Given the description of an element on the screen output the (x, y) to click on. 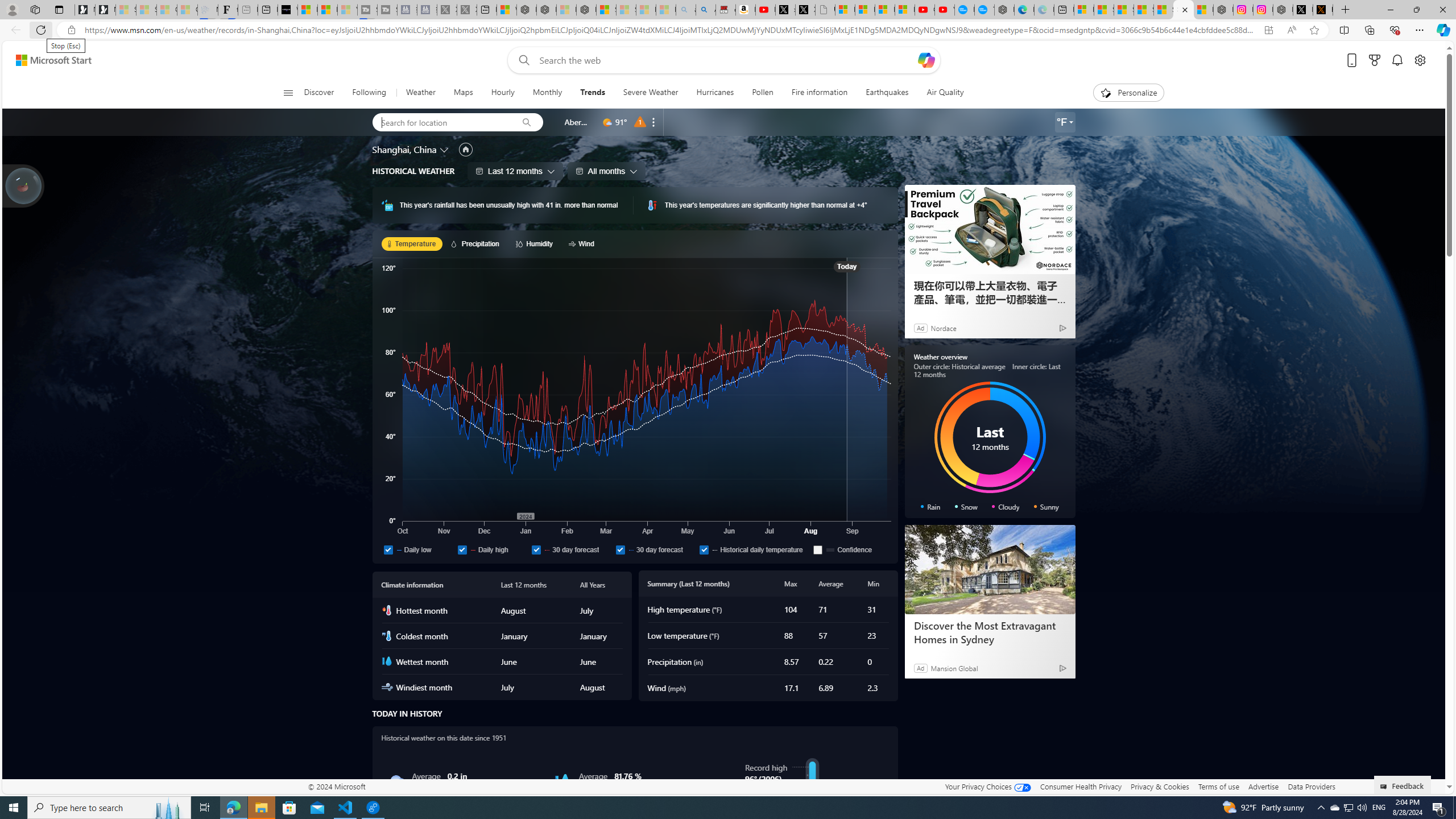
Class: feedback_link_icon-DS-EntryPoint1-1 (1384, 786)
Trends (592, 92)
Class: button-glyph (287, 92)
Copilot (Ctrl+Shift+.) (1442, 29)
Monthly (547, 92)
Minimize (1390, 9)
Mansion Global (954, 668)
Amazon Echo Dot PNG - Search Images (705, 9)
Nordace - Summer Adventures 2024 (1282, 9)
Trends (592, 92)
Air Quality (940, 92)
